Given the description of an element on the screen output the (x, y) to click on. 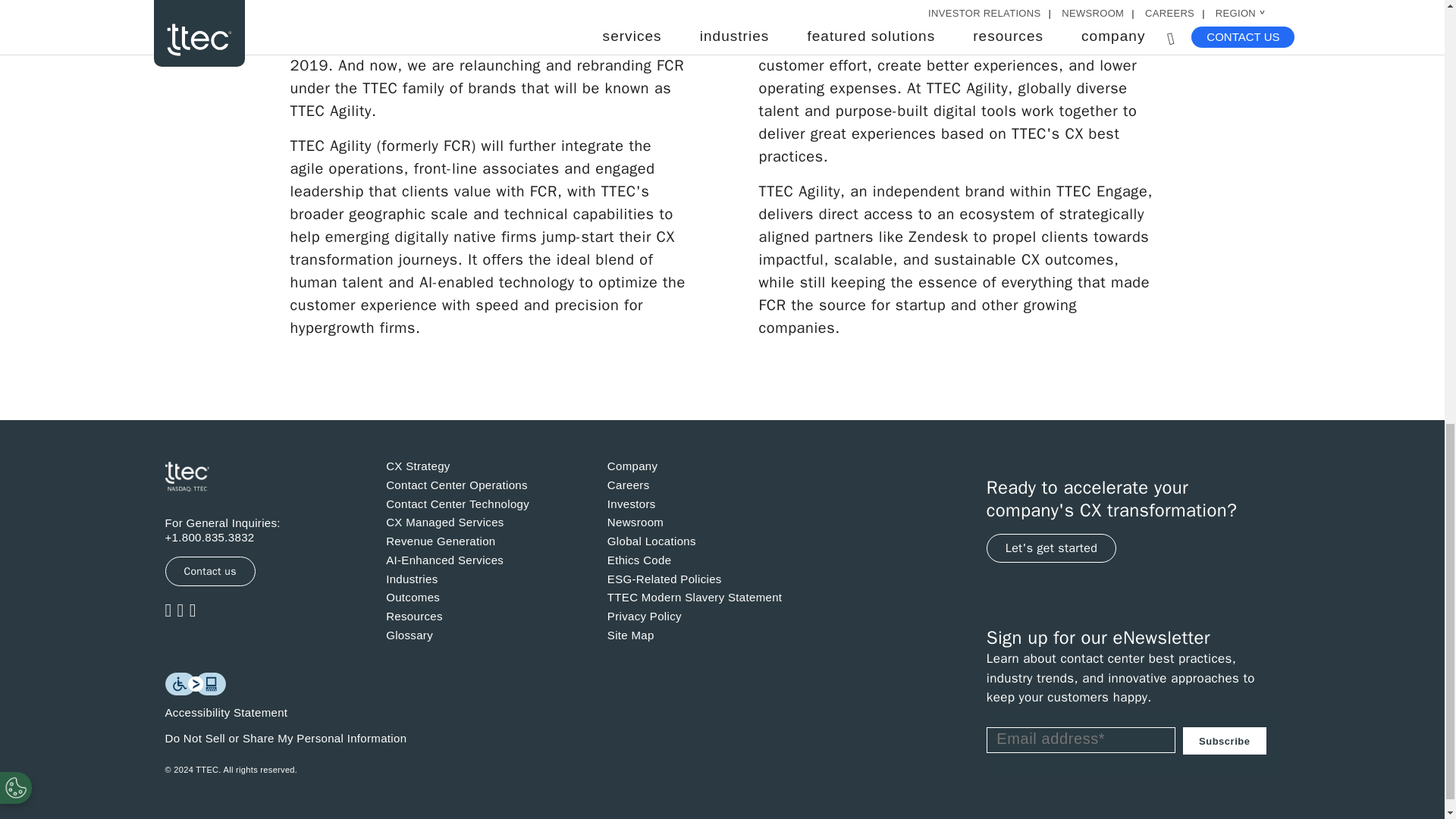
Sign up for our eNewsletter (1133, 744)
